Given the description of an element on the screen output the (x, y) to click on. 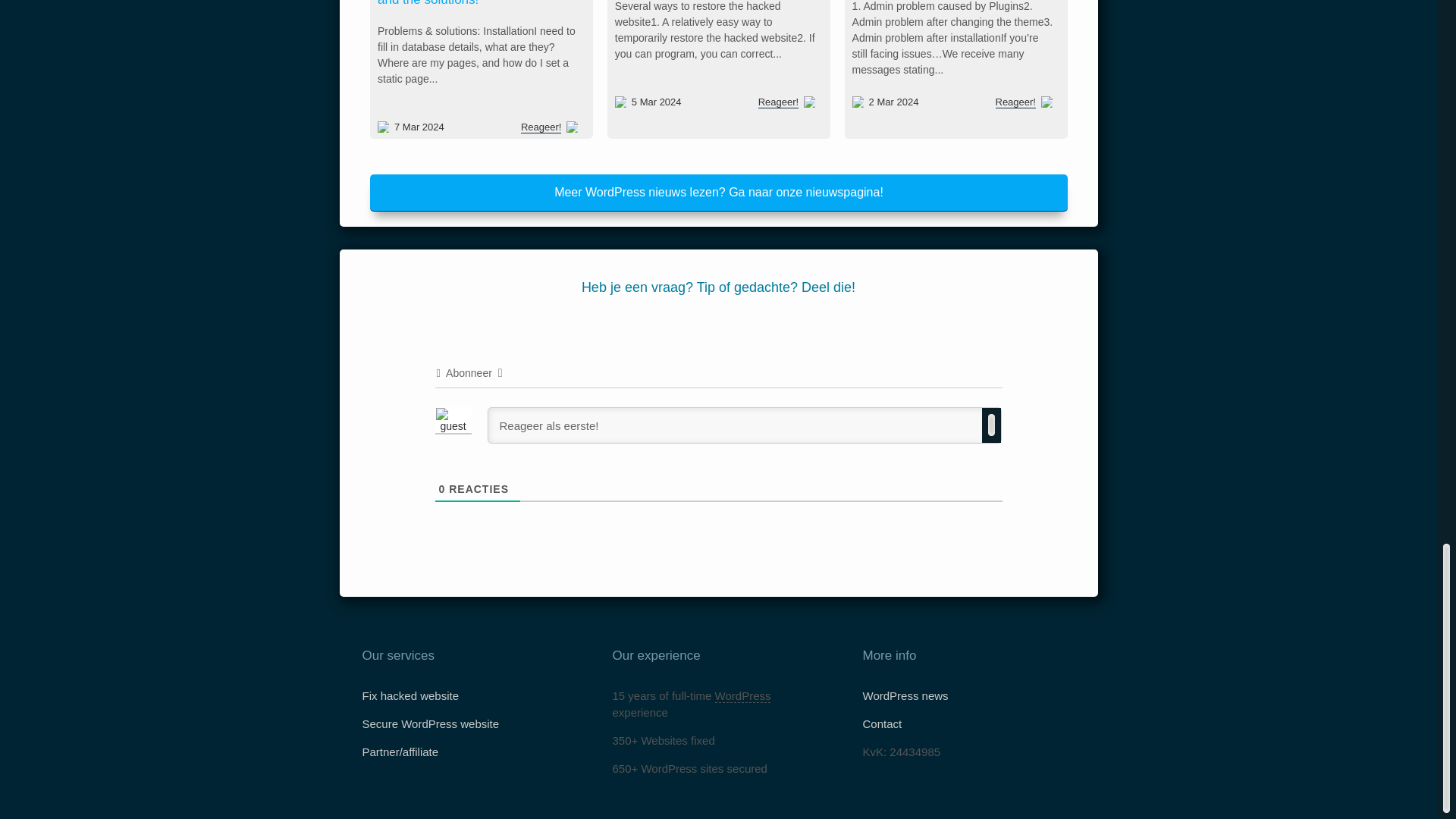
Reageer! (595, 94)
Reageer! (1014, 102)
Reageer! (776, 101)
Meer WordPress nieuws lezen? Ga naar onze nieuwspagina! (718, 192)
Fix hacked website (411, 695)
Secure WordPress website (430, 723)
